Given the description of an element on the screen output the (x, y) to click on. 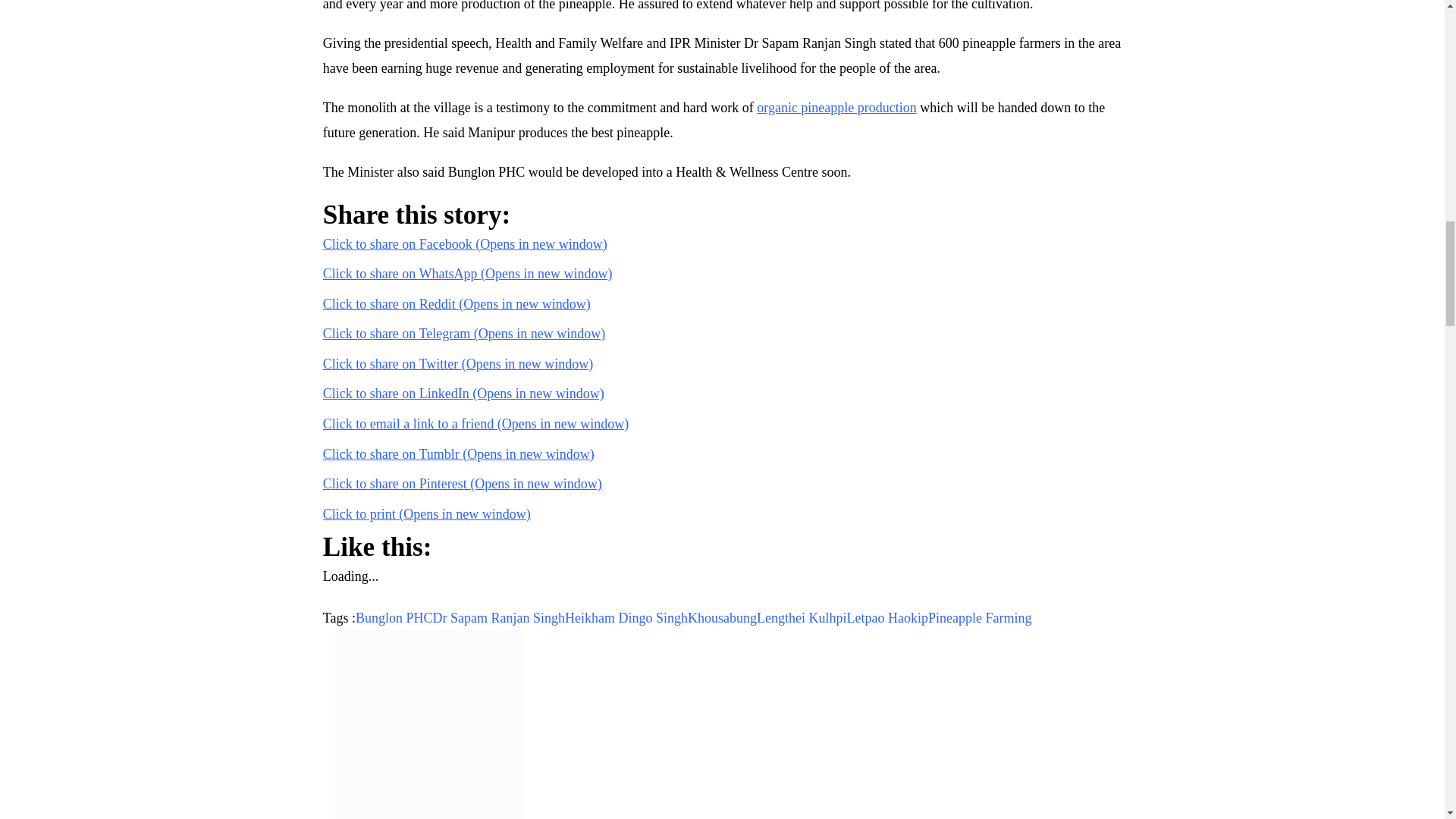
Click to share on Tumblr (458, 453)
Click to share on WhatsApp (467, 273)
Click to share on Reddit (457, 304)
Click to share on Twitter (457, 363)
Click to email a link to a friend (475, 423)
Click to share on Pinterest (462, 483)
organic pineapple production (837, 107)
Click to print (427, 513)
Click to share on Telegram (464, 333)
Click to share on Facebook (465, 243)
Click to share on LinkedIn (463, 393)
